Given the description of an element on the screen output the (x, y) to click on. 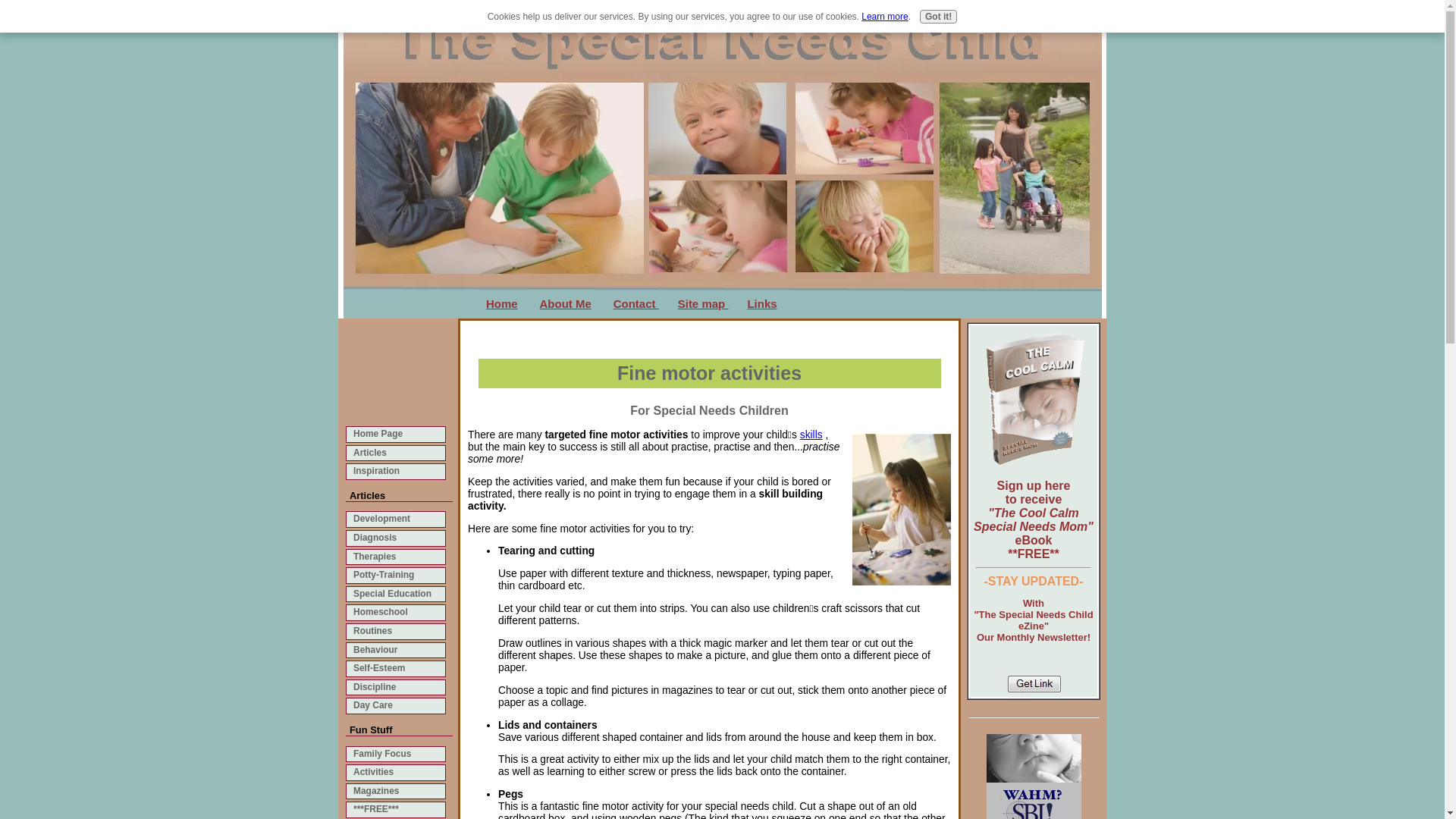
Therapies (395, 557)
Site map (703, 303)
Special Education (395, 594)
Day Care (395, 705)
Development (395, 519)
Homeschool (395, 612)
Links (761, 303)
Articles (395, 453)
Advertisement (393, 378)
Potty-Training (395, 575)
Home Page (395, 434)
Inspiration (395, 471)
Routines (395, 631)
Home (502, 303)
